Given the description of an element on the screen output the (x, y) to click on. 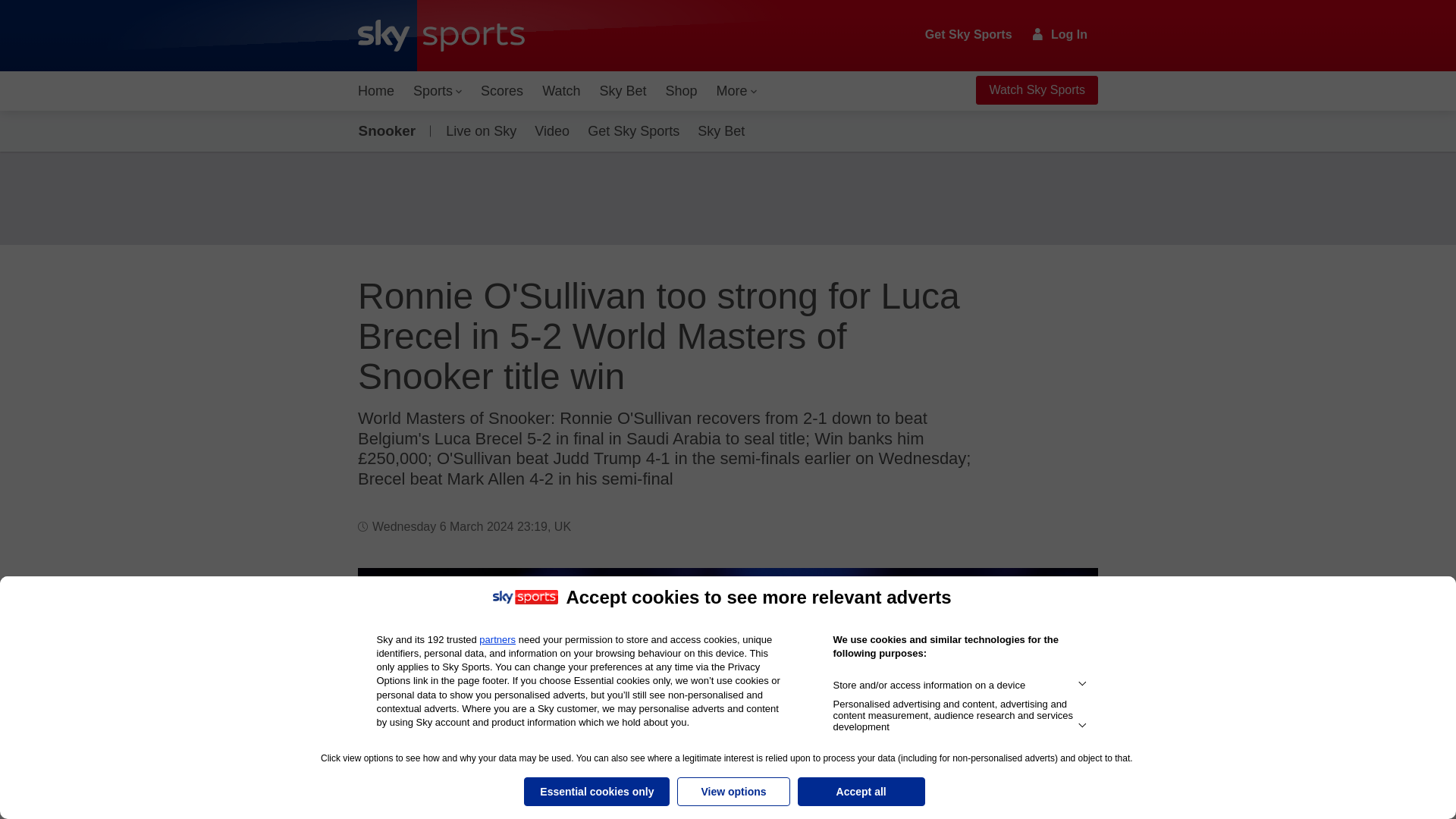
Sky Bet (622, 91)
Get Sky Sports (968, 34)
More (736, 91)
Snooker (389, 130)
Sports (437, 91)
Watch (561, 91)
Scores (502, 91)
Home (375, 91)
Shop (681, 91)
Live on Sky (477, 130)
Watch Sky Sports (1036, 90)
Log In (1060, 33)
